Given the description of an element on the screen output the (x, y) to click on. 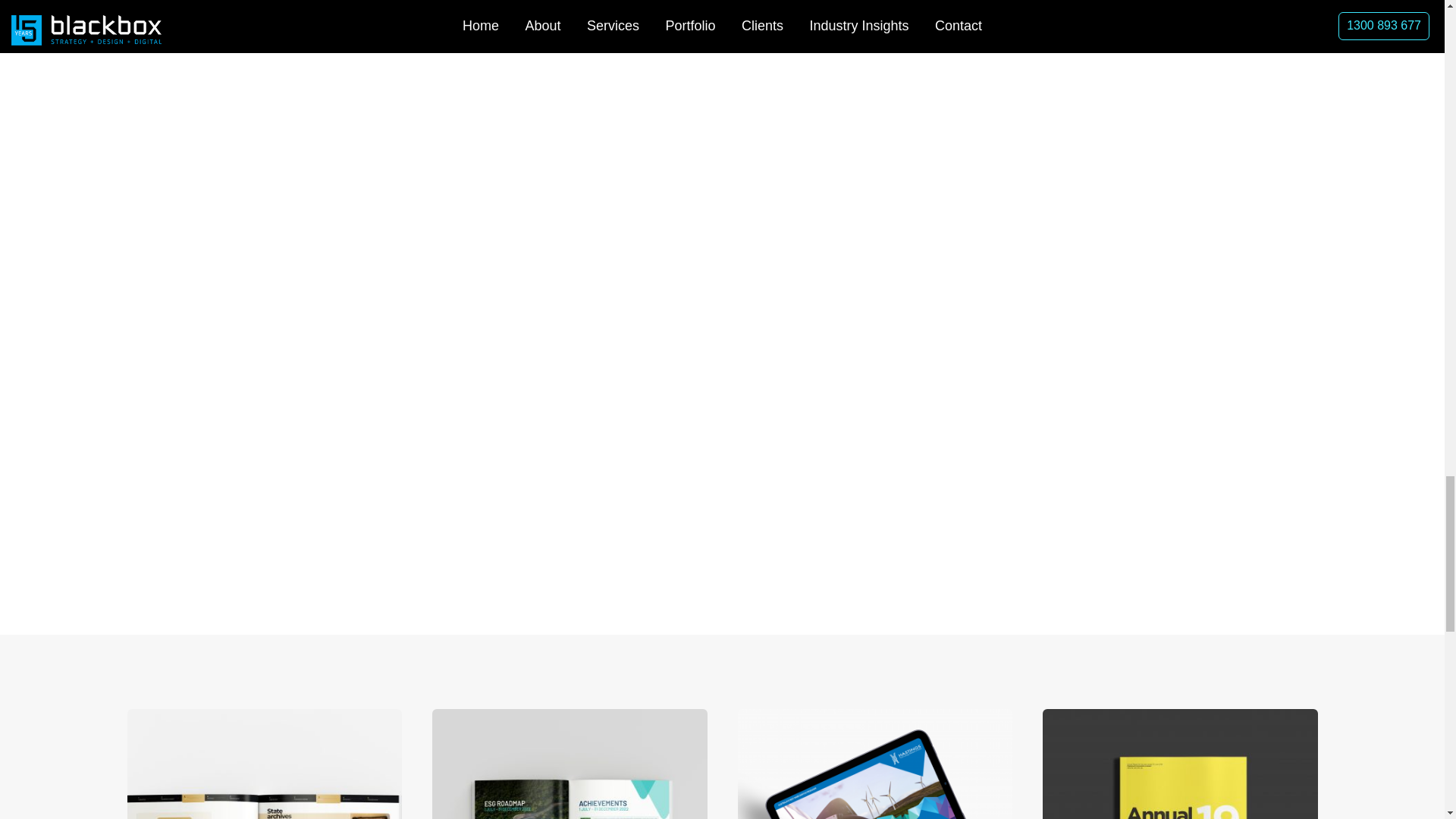
Submit (1114, 238)
